Given the description of an element on the screen output the (x, y) to click on. 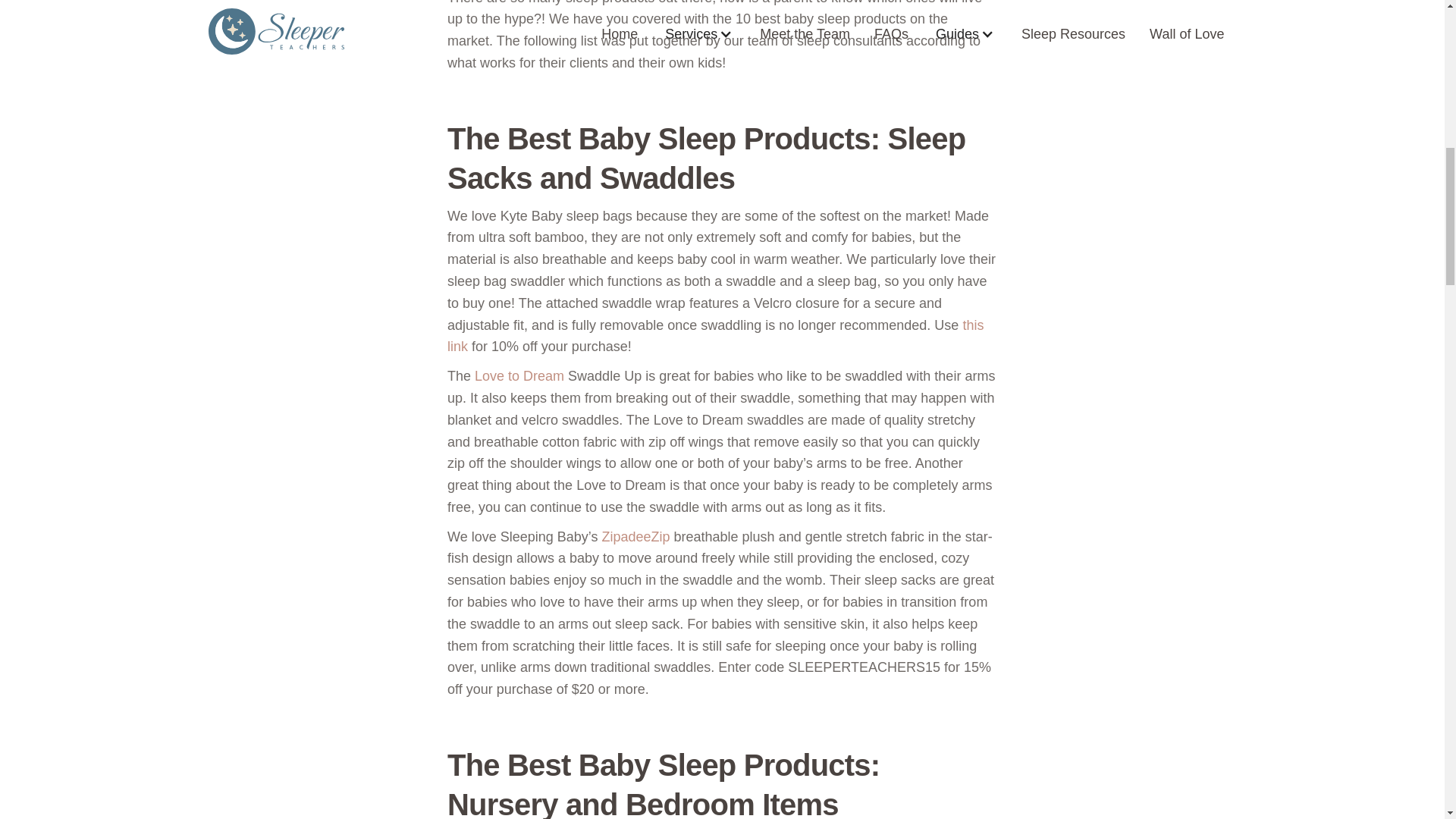
Love to Dream (519, 376)
this link (715, 335)
ZipadeeZip (635, 536)
